Given the description of an element on the screen output the (x, y) to click on. 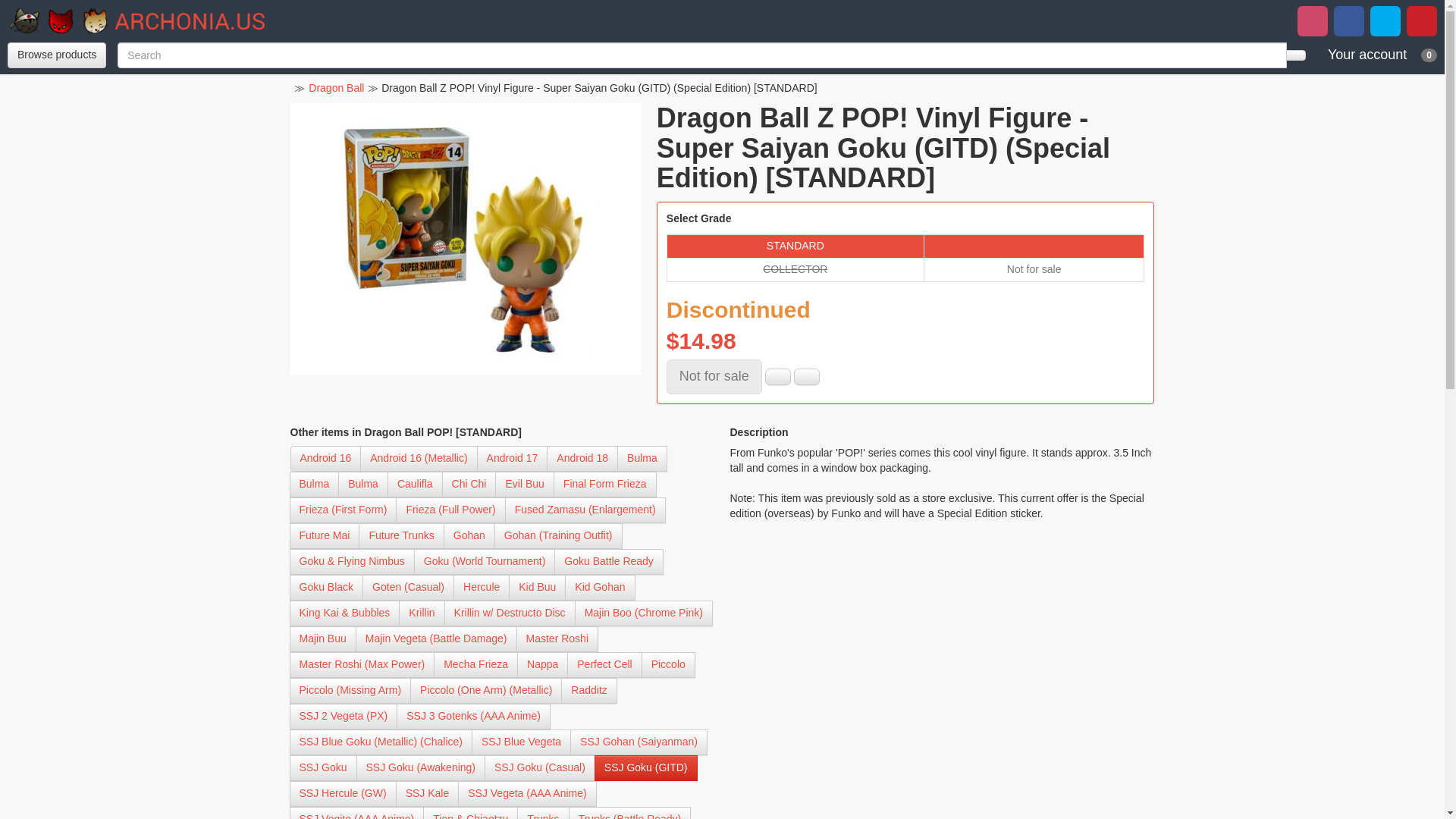
Ask a question (56, 54)
Facebook (806, 376)
Twitter (1348, 20)
Instagram (1385, 20)
Pinterest (1312, 20)
